Given the description of an element on the screen output the (x, y) to click on. 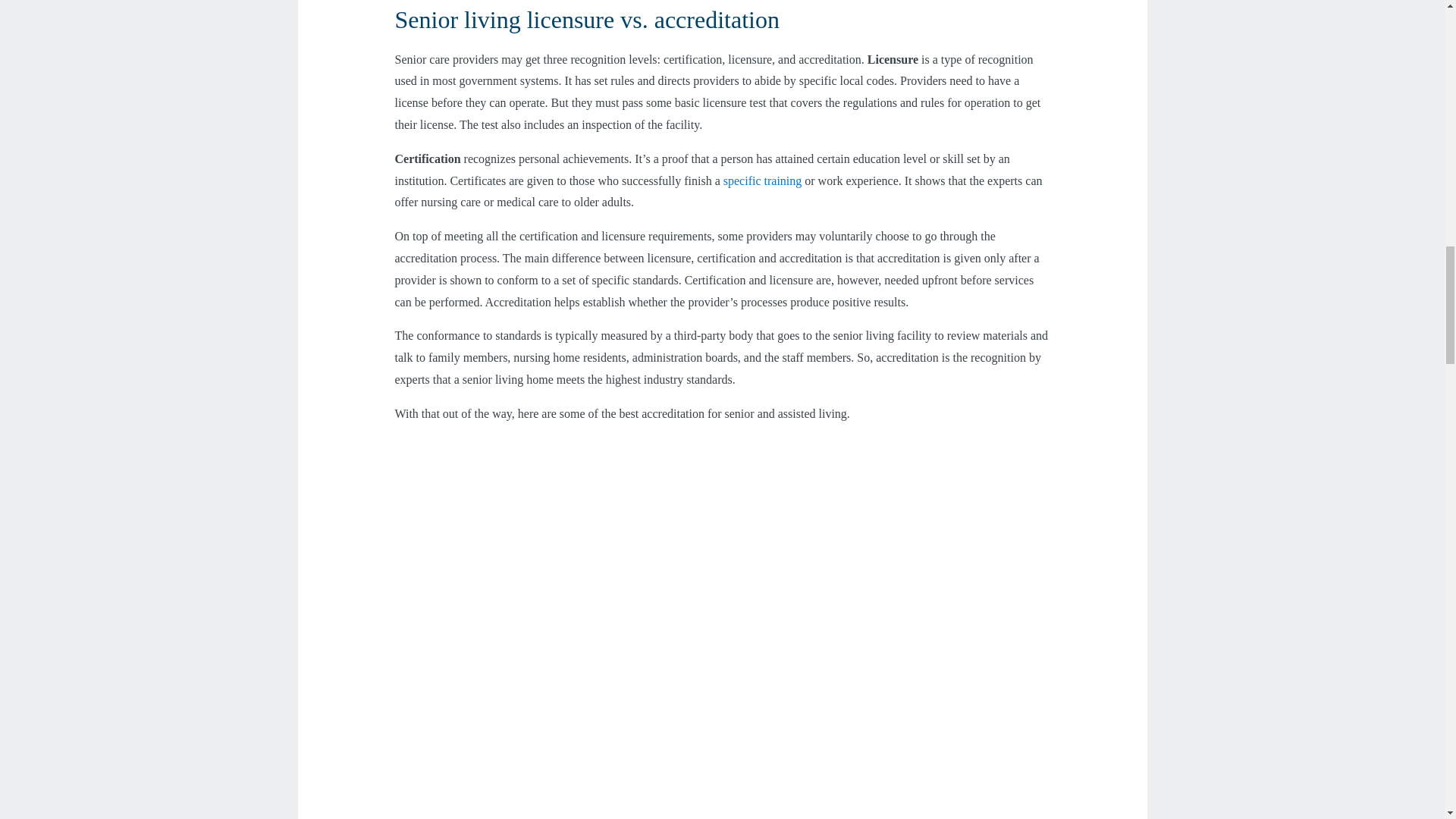
specific training (762, 180)
